Given the description of an element on the screen output the (x, y) to click on. 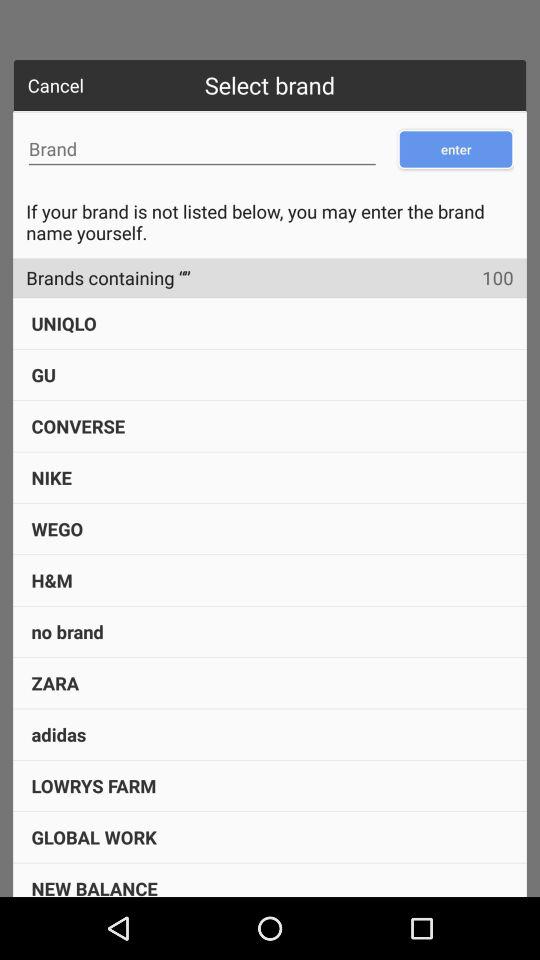
search the brand (202, 149)
